Given the description of an element on the screen output the (x, y) to click on. 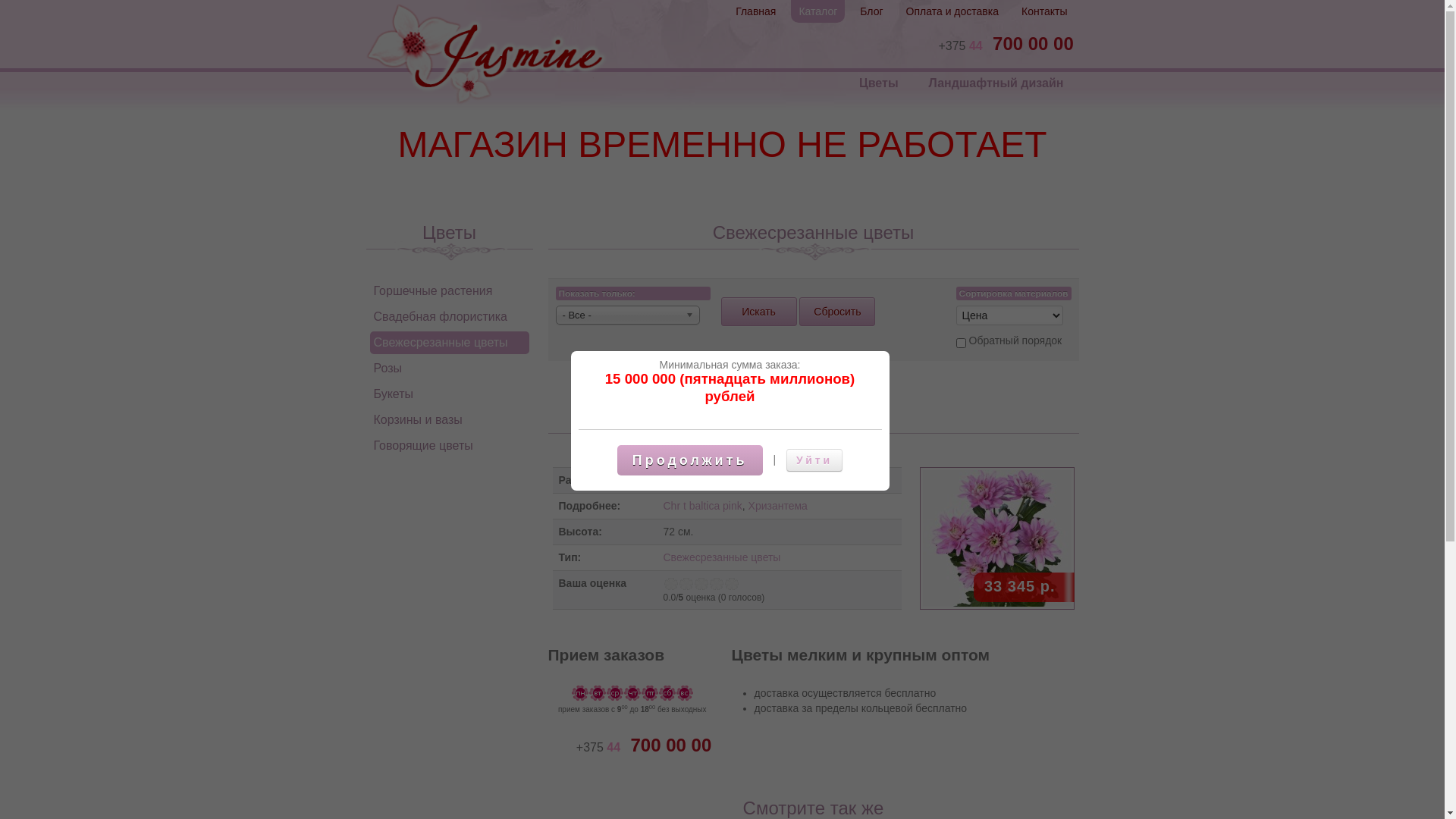
BALTICA PINK Element type: hover (996, 538)
Chr t baltica pink Element type: text (701, 505)
